Given the description of an element on the screen output the (x, y) to click on. 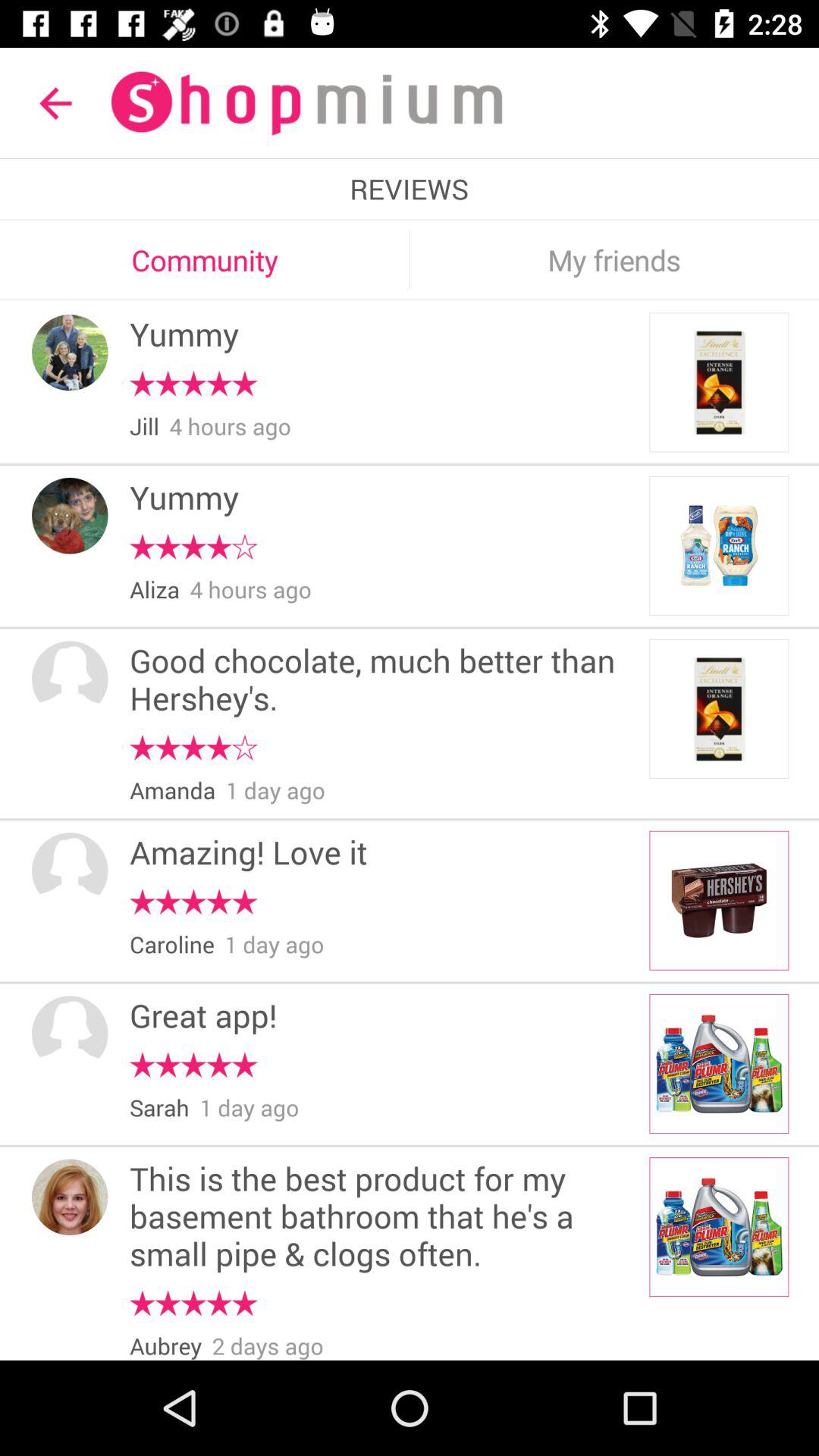
press the item below the aliza item (384, 681)
